Given the description of an element on the screen output the (x, y) to click on. 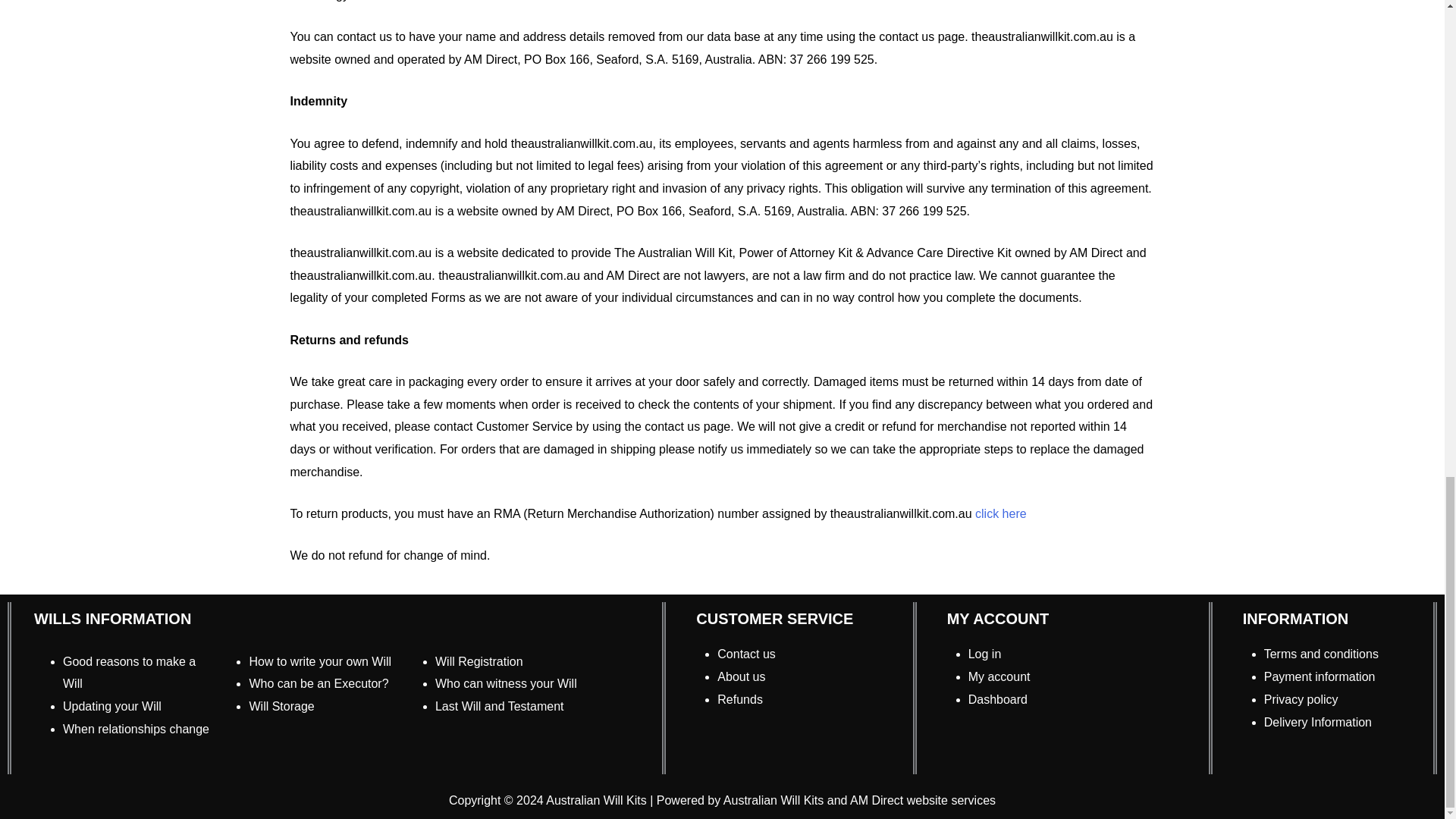
WILLS INFORMATION (111, 618)
Who can be an Executor? (318, 683)
Will Storage (281, 706)
Updating your Will (111, 706)
When relationships change (135, 728)
Good reasons to make a Will (128, 673)
click here (1000, 513)
Who can witness your Will (505, 683)
Will Registration (478, 661)
How to write your own Will (319, 661)
